Given the description of an element on the screen output the (x, y) to click on. 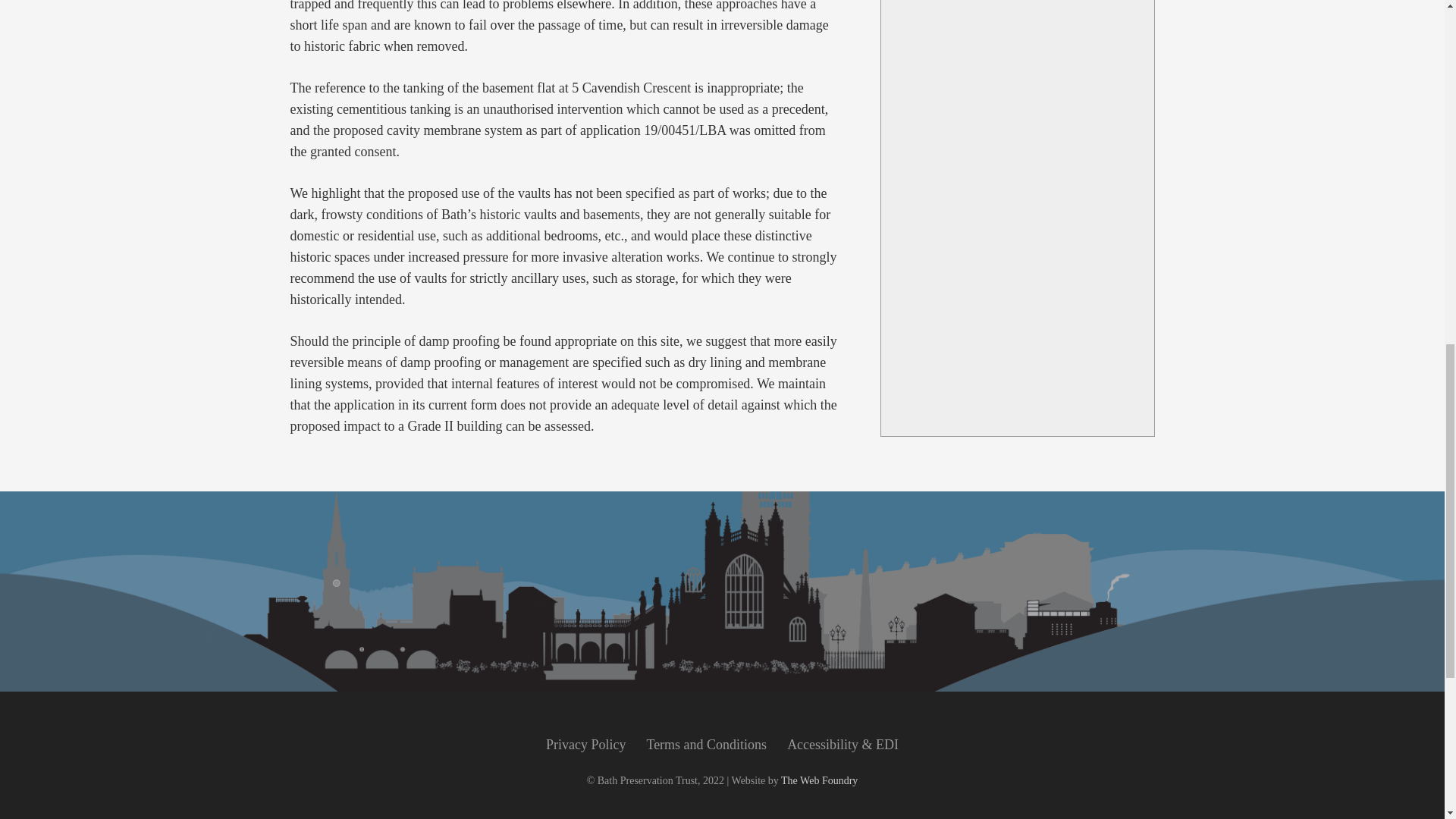
Back to top (1413, 26)
